Given the description of an element on the screen output the (x, y) to click on. 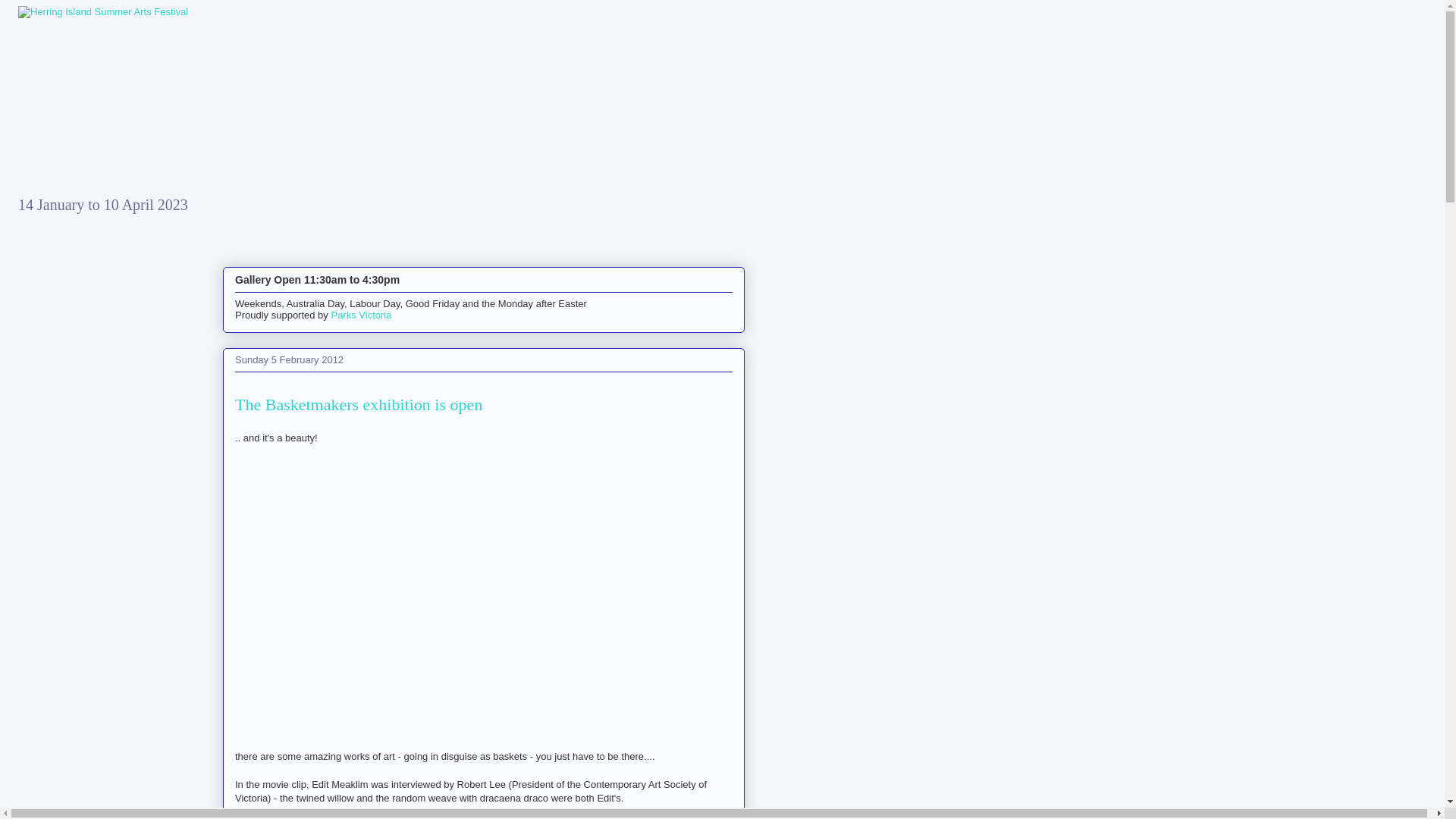
Parks Victoria Element type: text (360, 314)
